Given the description of an element on the screen output the (x, y) to click on. 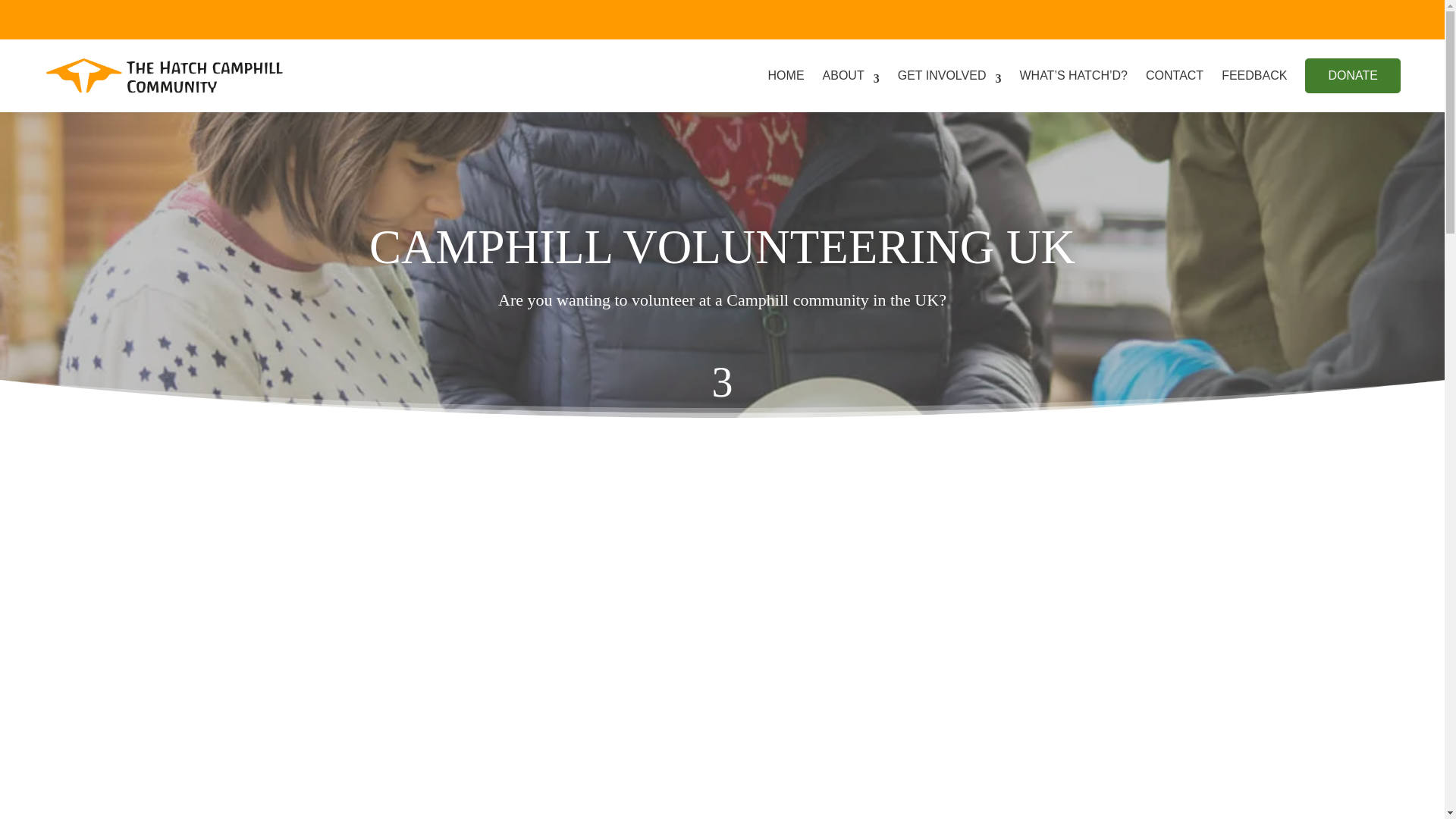
FEEDBACK (1254, 75)
ABOUT (850, 75)
GET INVOLVED (949, 75)
About Us (850, 75)
CONTACT (1174, 75)
DONATE (1351, 75)
Get Involved (949, 75)
